Given the description of an element on the screen output the (x, y) to click on. 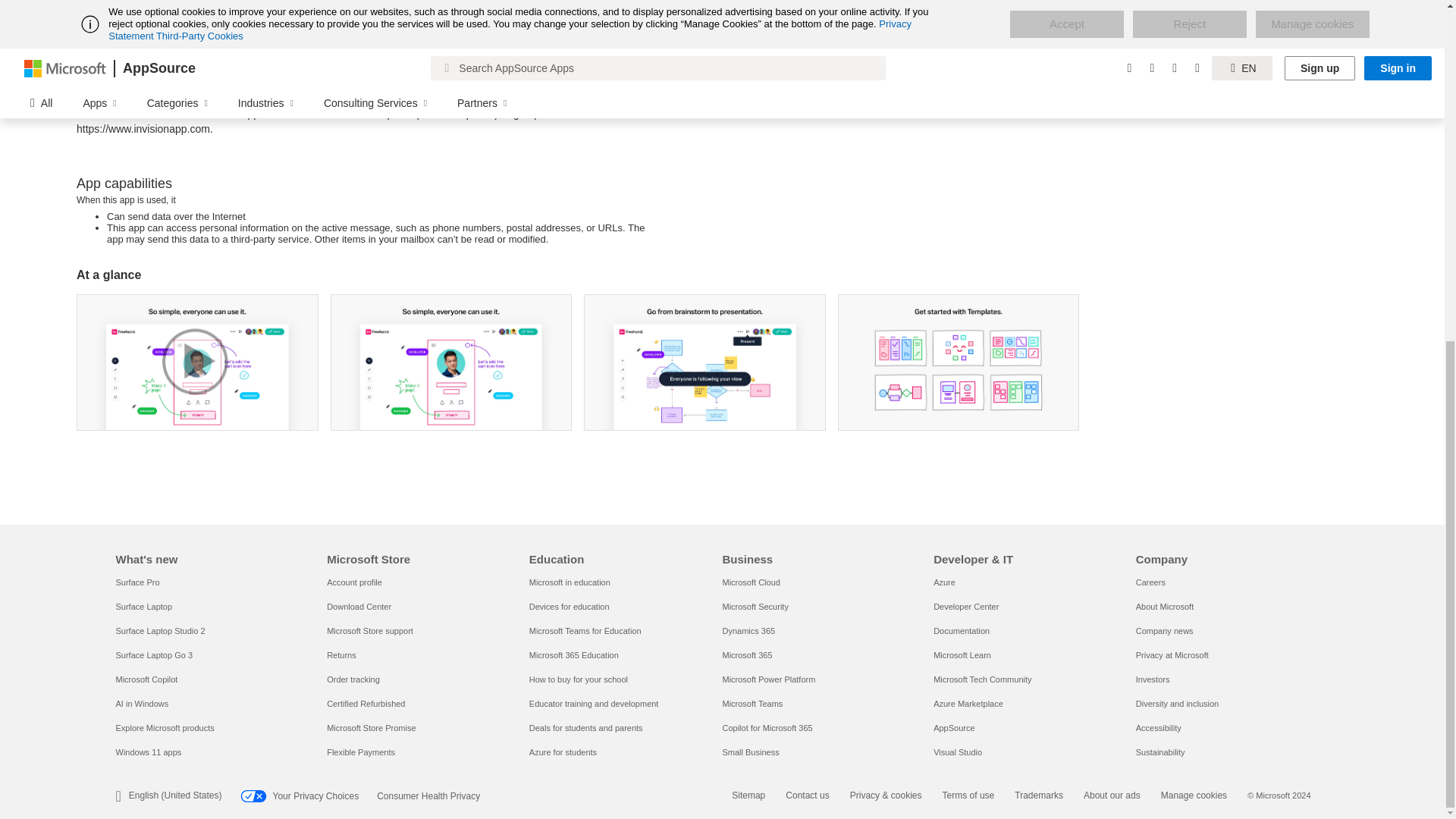
Microsoft Copilot (146, 678)
Windows 11 apps (147, 751)
Surface Pro (136, 582)
Explore Microsoft products (164, 727)
Surface Laptop (143, 605)
Surface Laptop Go 3 (153, 655)
Surface Laptop Studio 2 (160, 630)
AI in Windows (141, 703)
privacy (1207, 3)
